Given the description of an element on the screen output the (x, y) to click on. 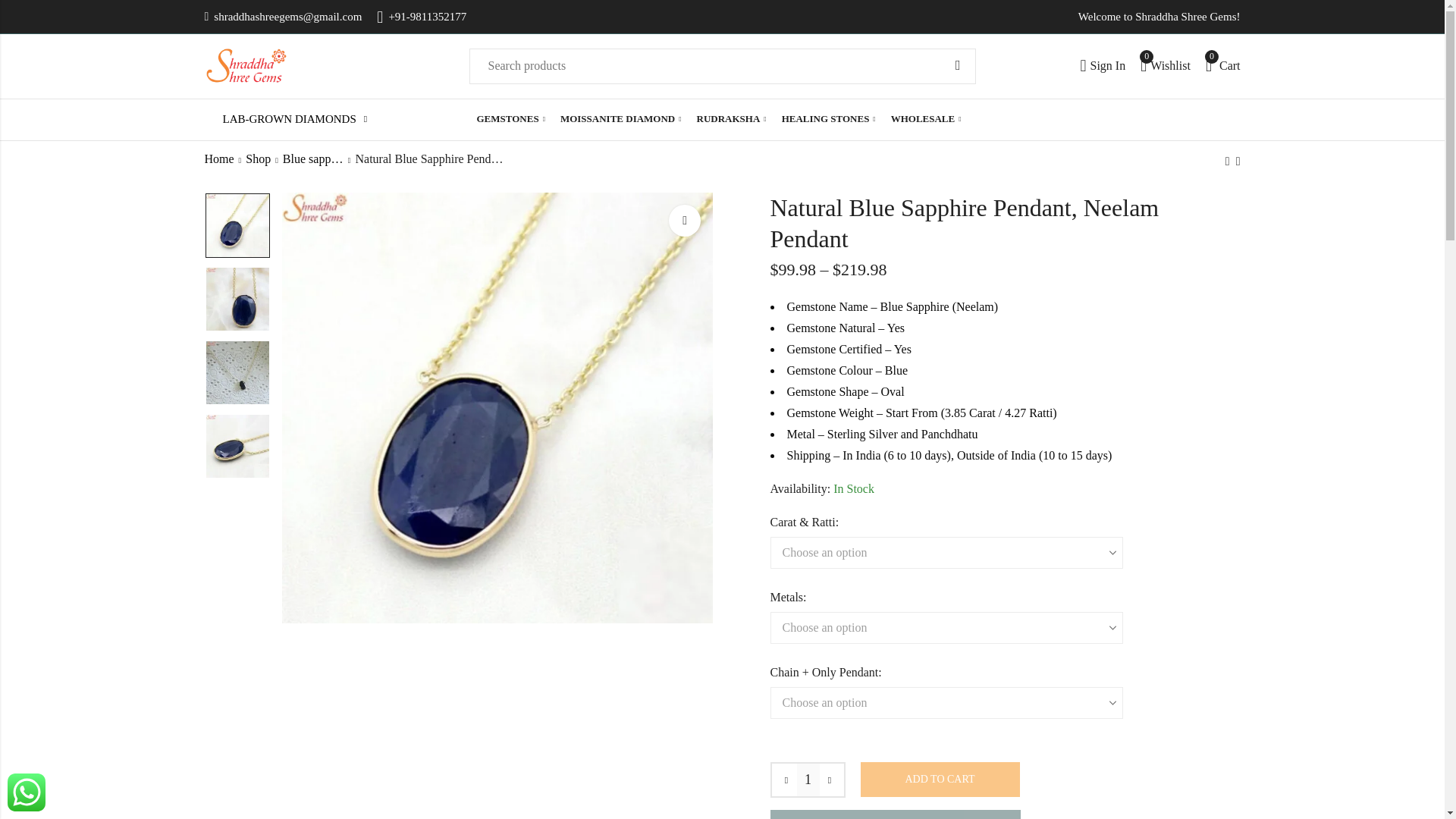
Sign In (1222, 65)
Search (1102, 65)
GEMSTONES (957, 65)
natural blue sapphire pendant (1165, 65)
